Given the description of an element on the screen output the (x, y) to click on. 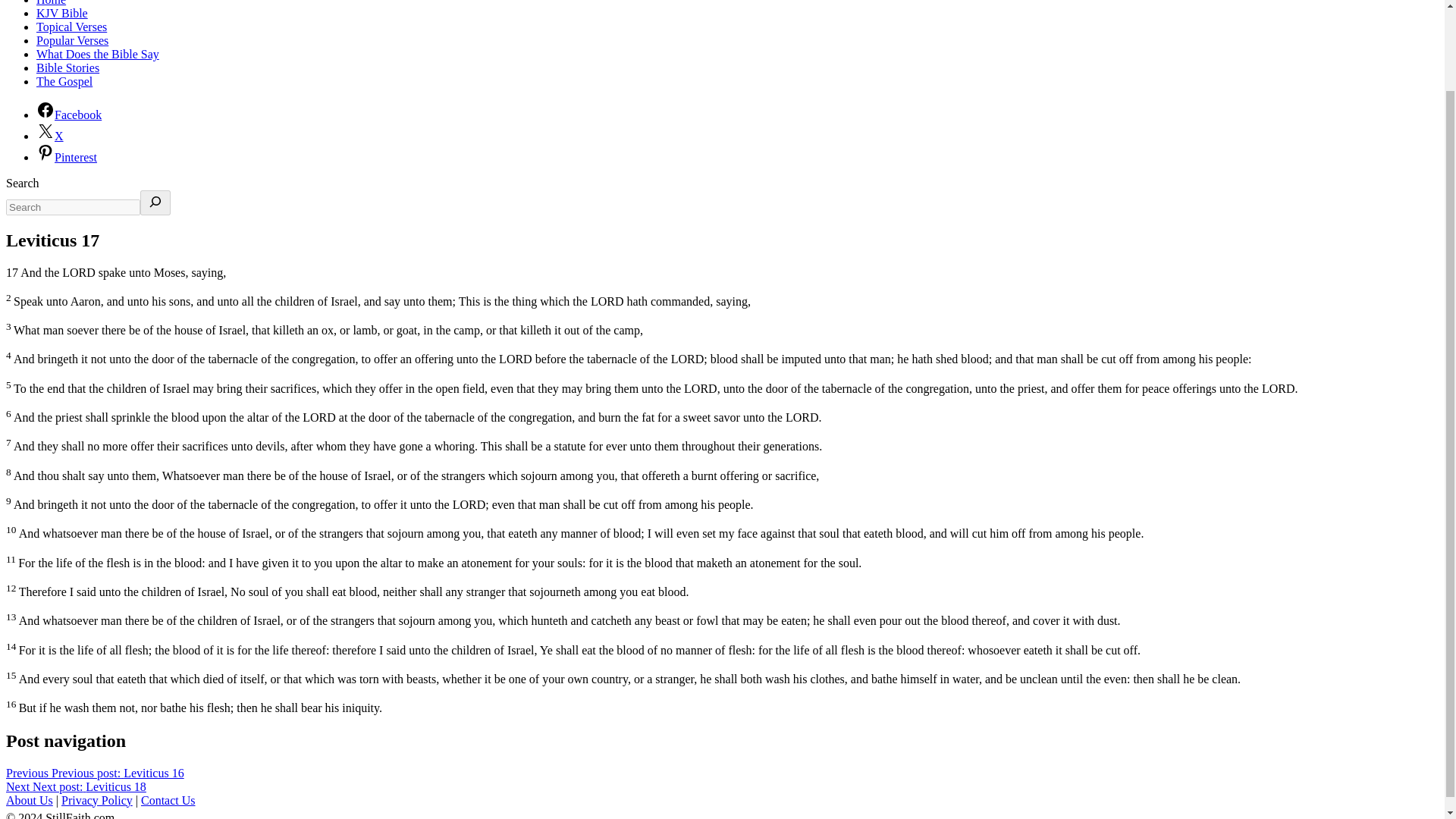
About Us (28, 799)
Popular Verses (71, 40)
Topical Verses (71, 26)
Facebook (68, 114)
Next Next post: Leviticus 18 (76, 786)
What Does the Bible Say (97, 53)
KJV Bible (61, 12)
Previous Previous post: Leviticus 16 (94, 772)
Pinterest (66, 156)
Contact Us (168, 799)
Bible Stories (67, 67)
Privacy Policy (96, 799)
Home (50, 2)
X (50, 135)
The Gospel (64, 81)
